Given the description of an element on the screen output the (x, y) to click on. 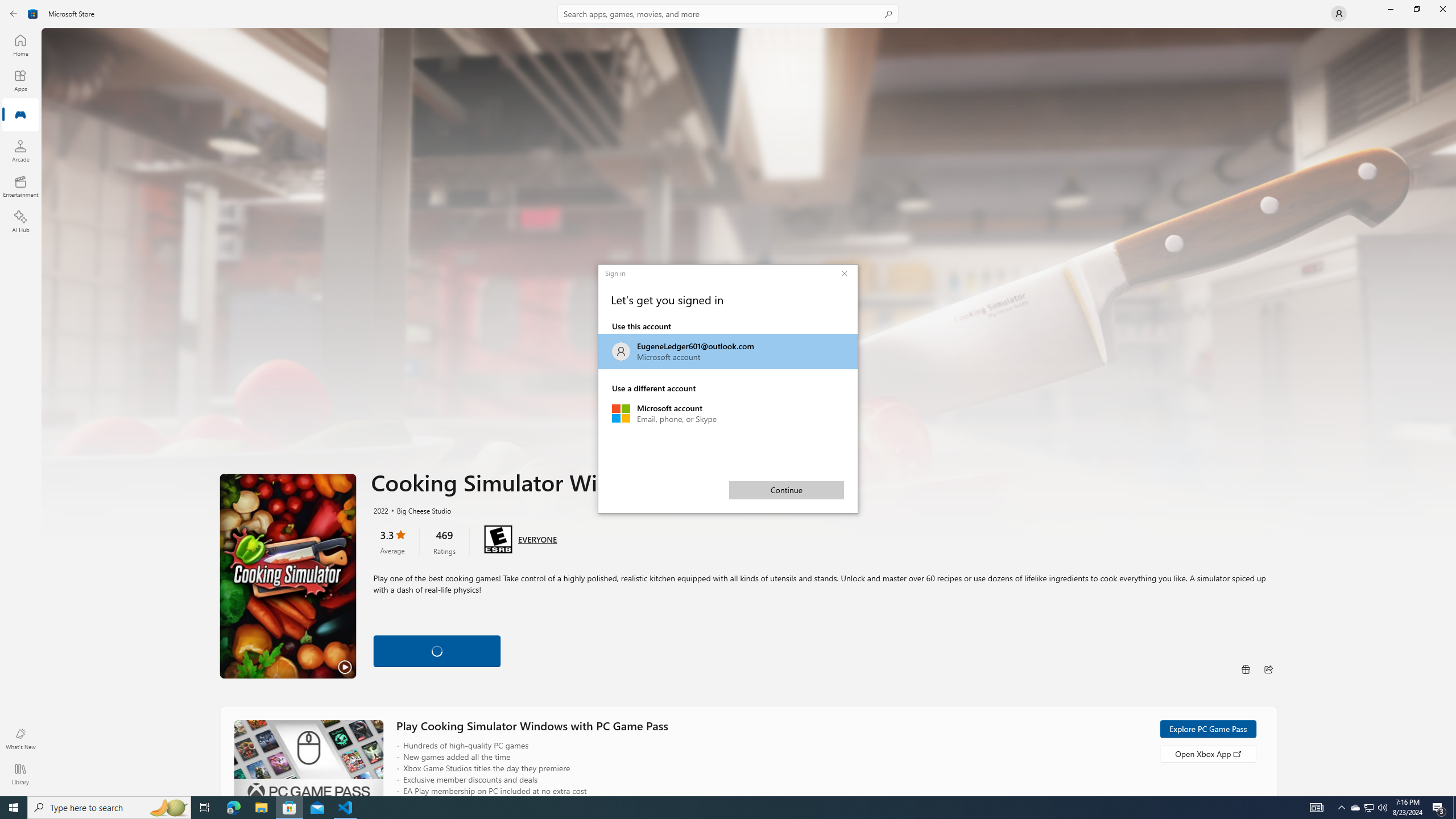
Continue (786, 490)
Visual Studio Code - 1 running window (345, 807)
Search (727, 13)
Open Xbox App (1207, 753)
Notification Chevron (1341, 807)
Vertical Large Increase (1452, 553)
Play Trailer (287, 575)
Big Cheese Studio (418, 510)
Show desktop (727, 351)
Play with Game Pass (1454, 807)
Close Sign in (436, 649)
Action Center, 3 new notifications (844, 273)
AI Hub (1439, 807)
